Given the description of an element on the screen output the (x, y) to click on. 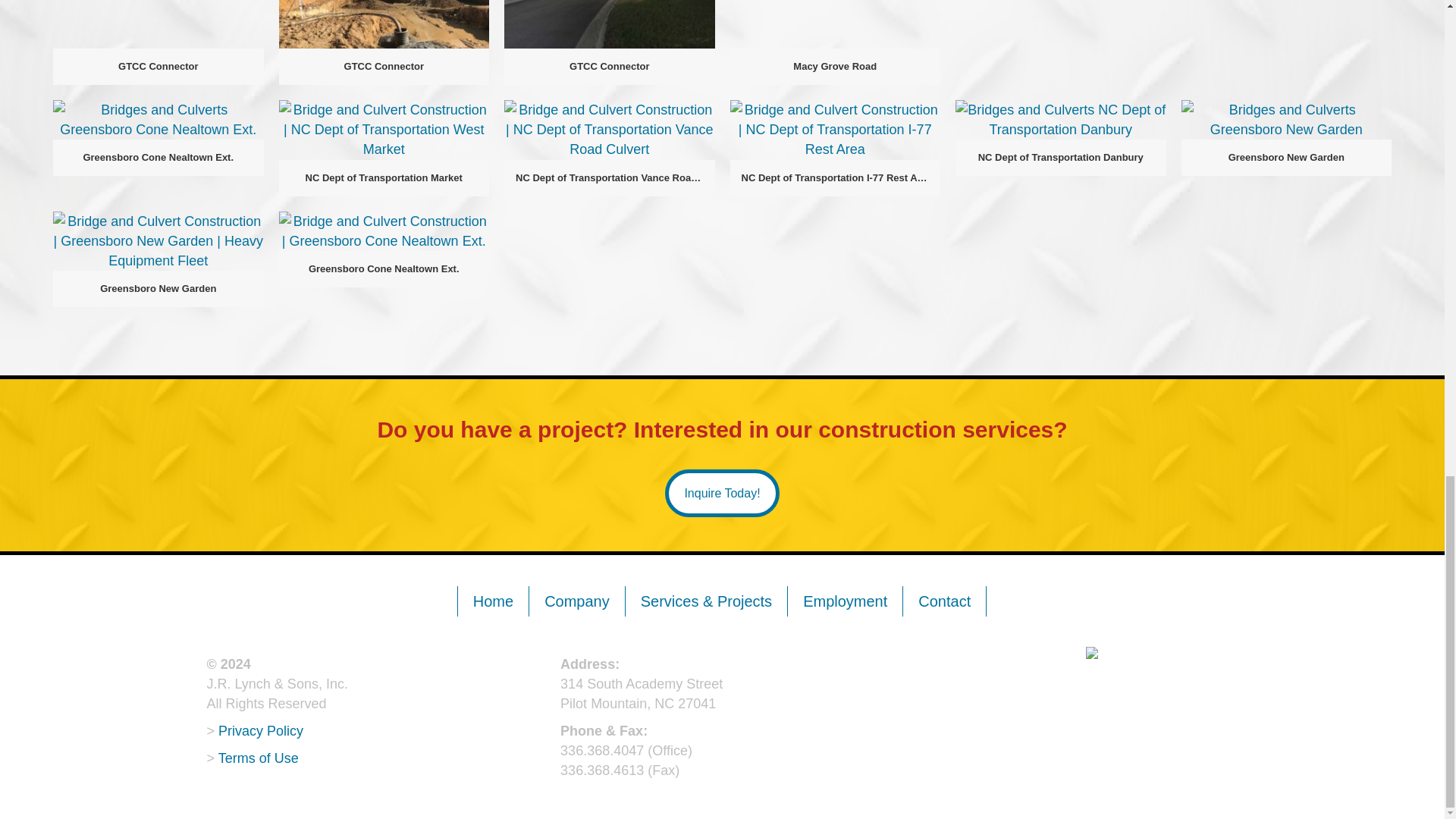
g-bridges-culverts-gtcc-connector-02 (384, 24)
g-bridges-culverts-greensboro-cone-nealtown-ext-03 (157, 119)
g-bridges-culverts-nc-dept-transportation-i-77-resrt-area-01 (834, 128)
g-bridges-culverts-gtcc-connector-01 (157, 24)
g-bridges-culverts-nc-dept-transportation-west-market-01 (384, 128)
g-bridges-culverts-macy-grove-road-01 (834, 24)
g-bridges-culverts-gtcc-connector-03 (608, 24)
